Given the description of an element on the screen output the (x, y) to click on. 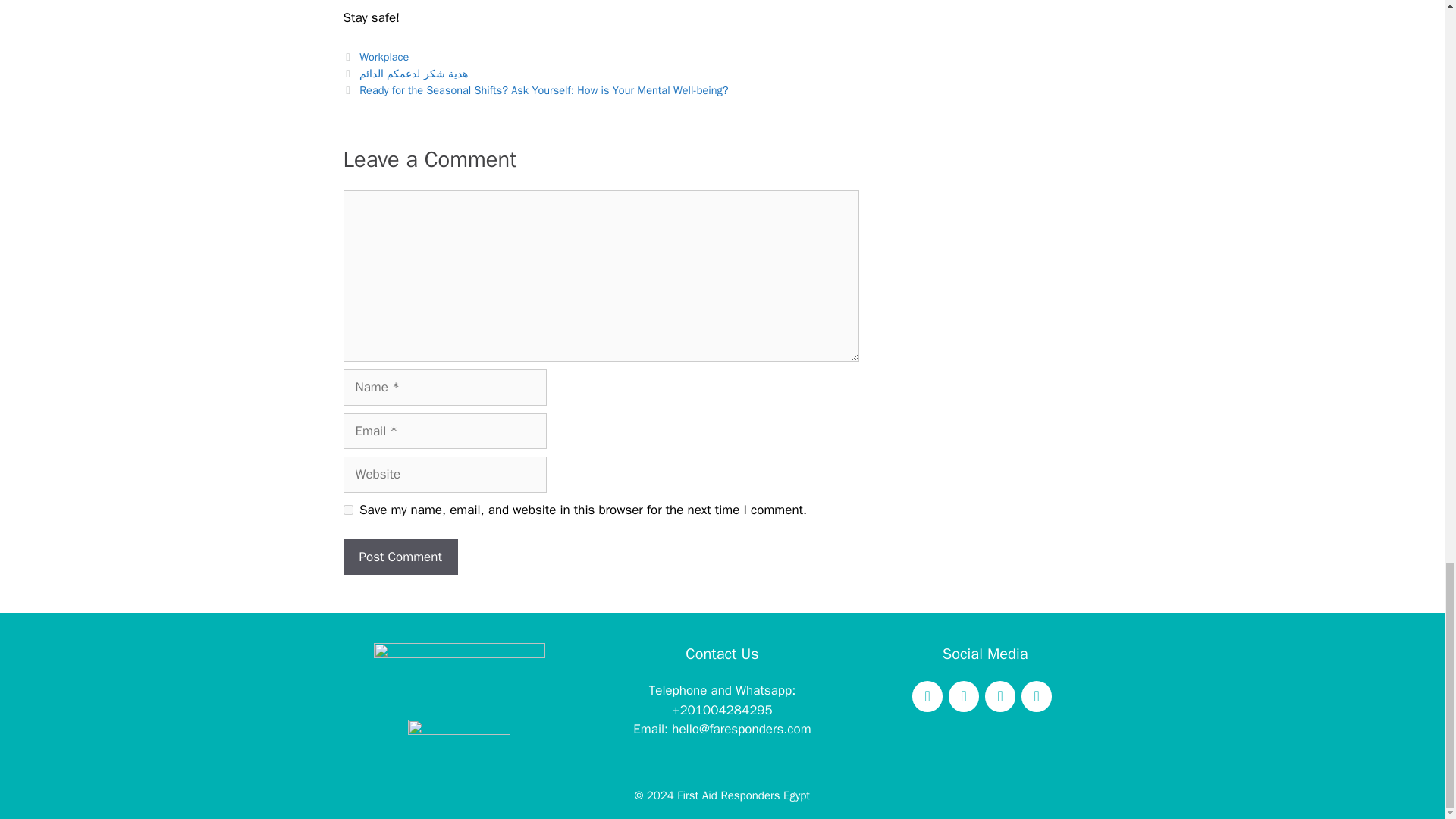
YouTube (999, 695)
Post Comment (399, 556)
Workplace (384, 56)
Post Comment (399, 556)
Instagram (963, 695)
Facebook (927, 695)
LinkedIn (1036, 695)
yes (347, 510)
